Given the description of an element on the screen output the (x, y) to click on. 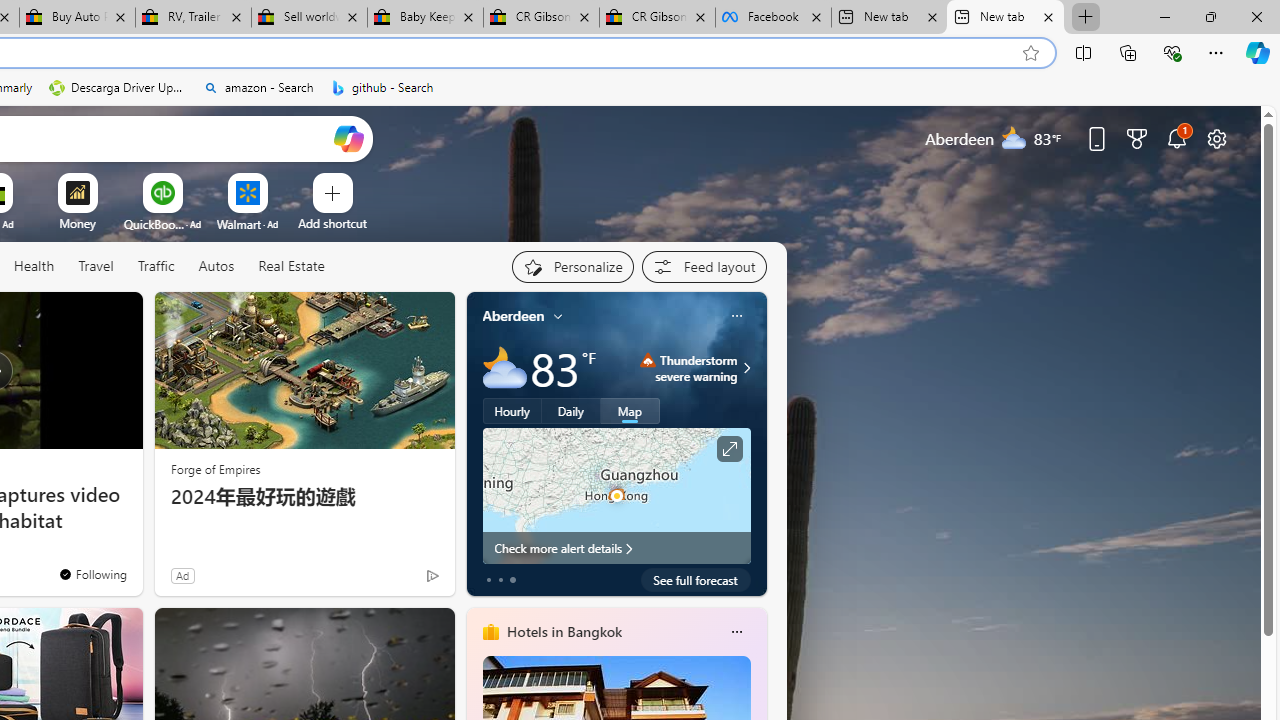
Class: icon-img (736, 632)
Check more alert details (616, 547)
Traffic (155, 265)
Real Estate (290, 267)
Personalize your feed" (571, 266)
github - Search (381, 88)
Hourly (511, 411)
Sell worldwide with eBay (309, 17)
Larger map  (616, 495)
Facebook (772, 17)
Traffic (155, 267)
Health (33, 267)
